Given the description of an element on the screen output the (x, y) to click on. 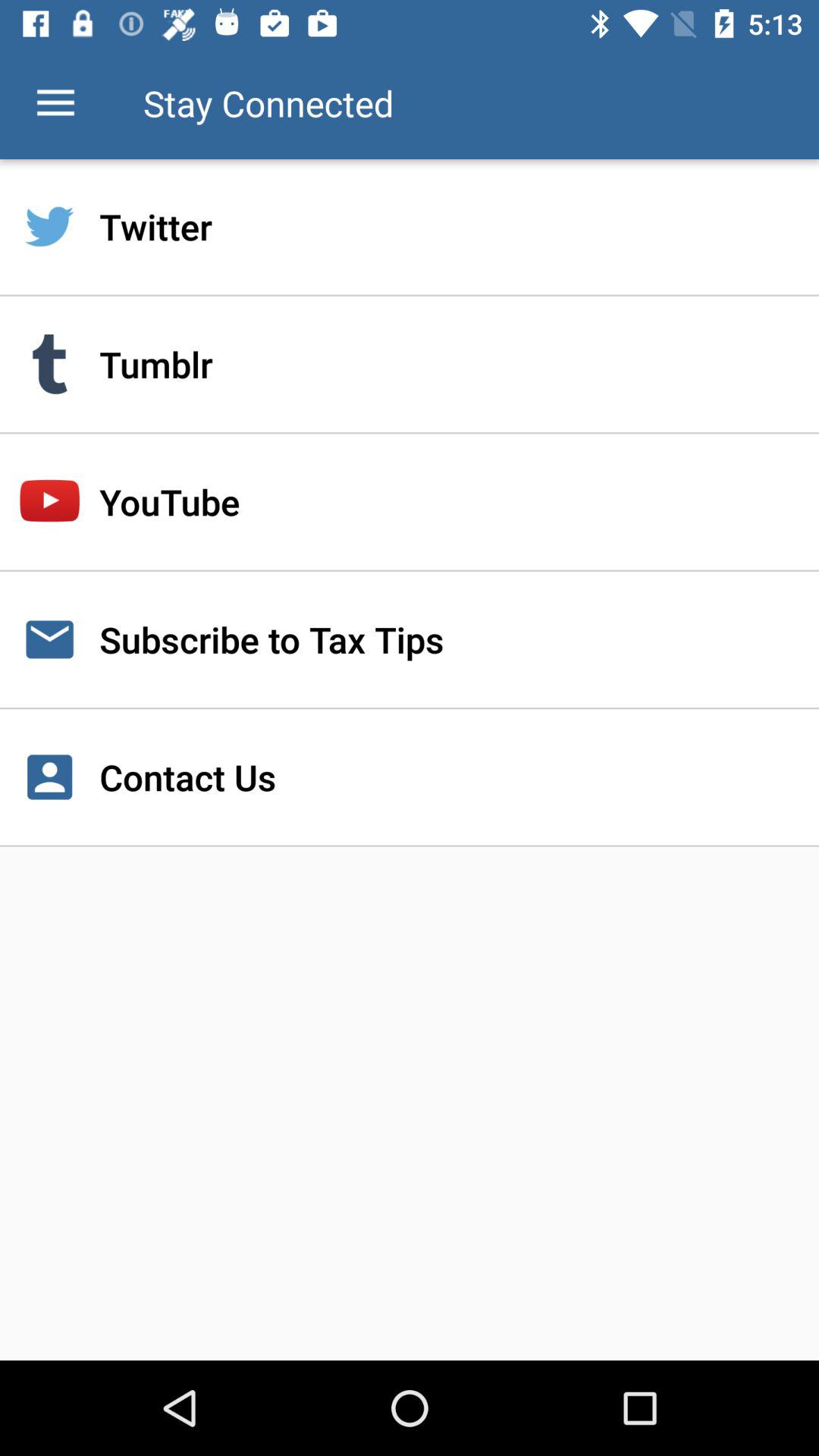
scroll until the subscribe to tax (409, 639)
